Given the description of an element on the screen output the (x, y) to click on. 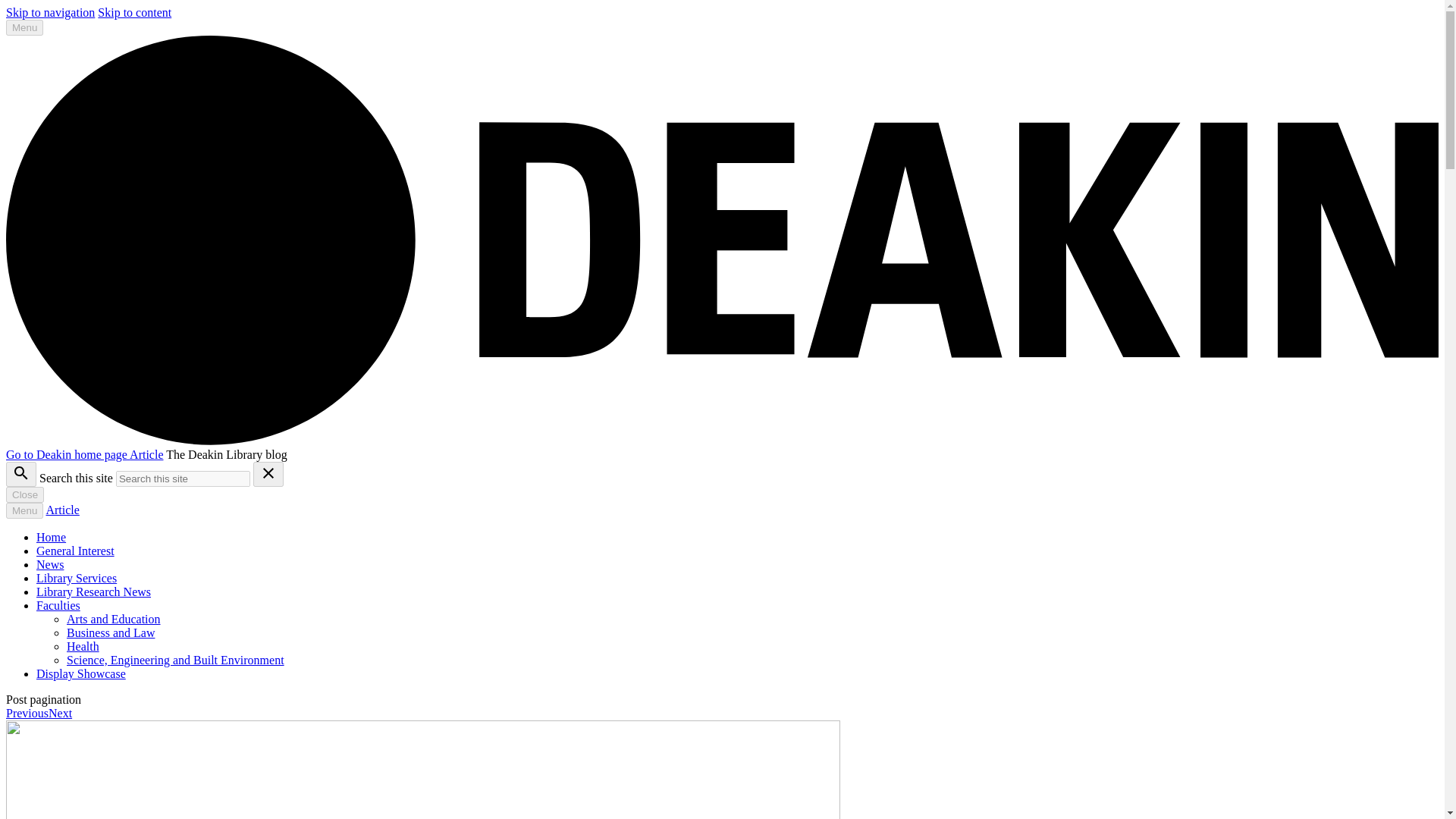
Skip to content (134, 11)
Science, Engineering and Built Environment (174, 659)
Library Research News (93, 591)
Library Services (76, 577)
Display Showcase (80, 673)
Previous (26, 712)
Business and Law (110, 632)
News (50, 563)
Faculties (58, 604)
General Interest (75, 550)
